Given the description of an element on the screen output the (x, y) to click on. 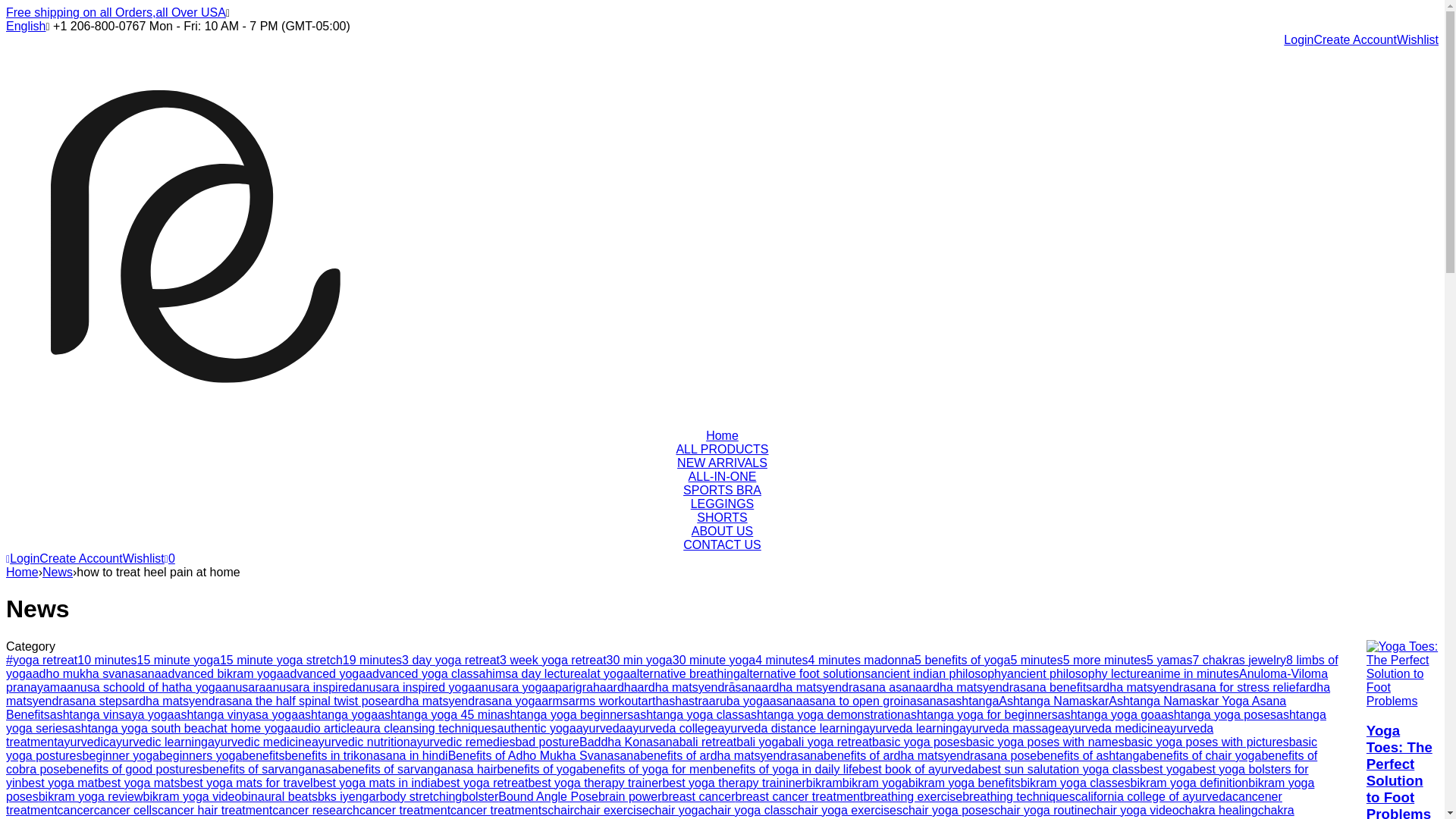
ALL PRODUCTS (721, 449)
Show articles tagged 15 minute yoga stretch (280, 659)
Show articles tagged 4 minutes (781, 659)
Wishlist (143, 558)
Cart (169, 558)
SHORTS (721, 517)
English (25, 25)
NEW ARRIVALS (722, 462)
ABOUT US (722, 530)
Show articles tagged 10 minutes (106, 659)
News (57, 572)
Home (22, 572)
Show articles tagged 19 minutes (371, 659)
Create Account (1354, 39)
Show articles tagged 30 minute yoga (713, 659)
